Given the description of an element on the screen output the (x, y) to click on. 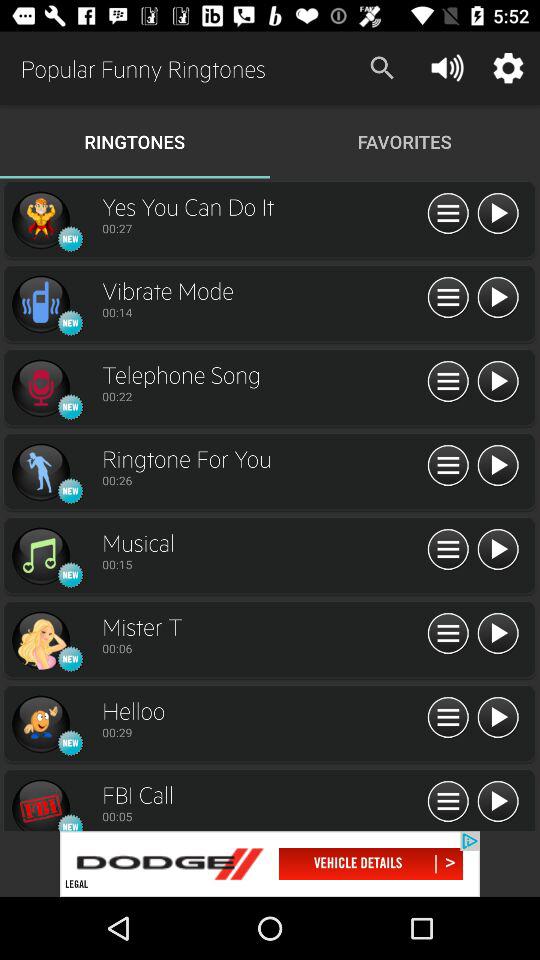
display picture for ringtone (40, 388)
